Given the description of an element on the screen output the (x, y) to click on. 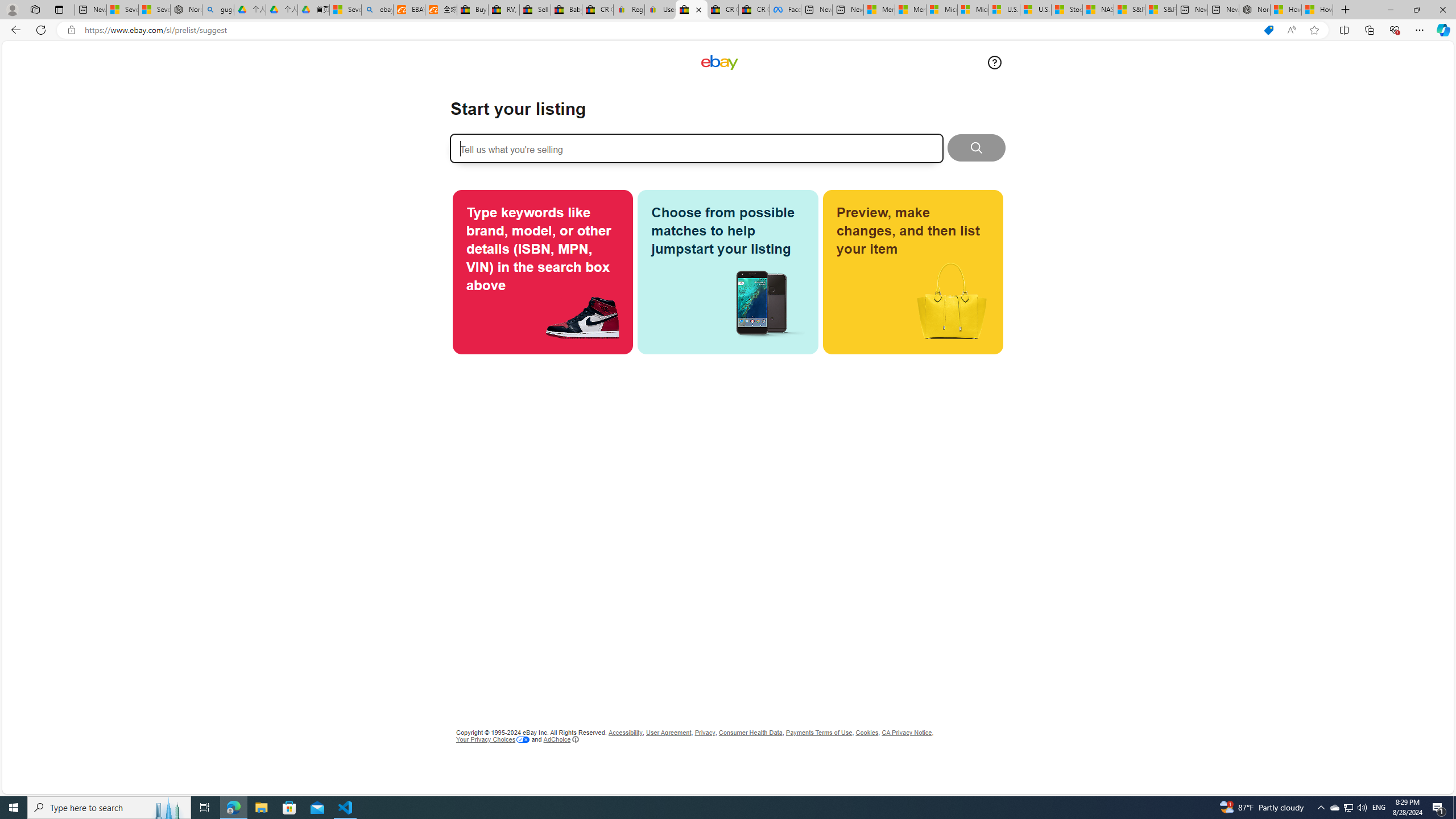
eBay Home (719, 62)
RV, Trailer & Camper Steps & Ladders for sale | eBay (503, 9)
Facebook (785, 9)
Your Privacy Choices (492, 739)
How to Use a Monitor With Your Closed Laptop (1317, 9)
